Given the description of an element on the screen output the (x, y) to click on. 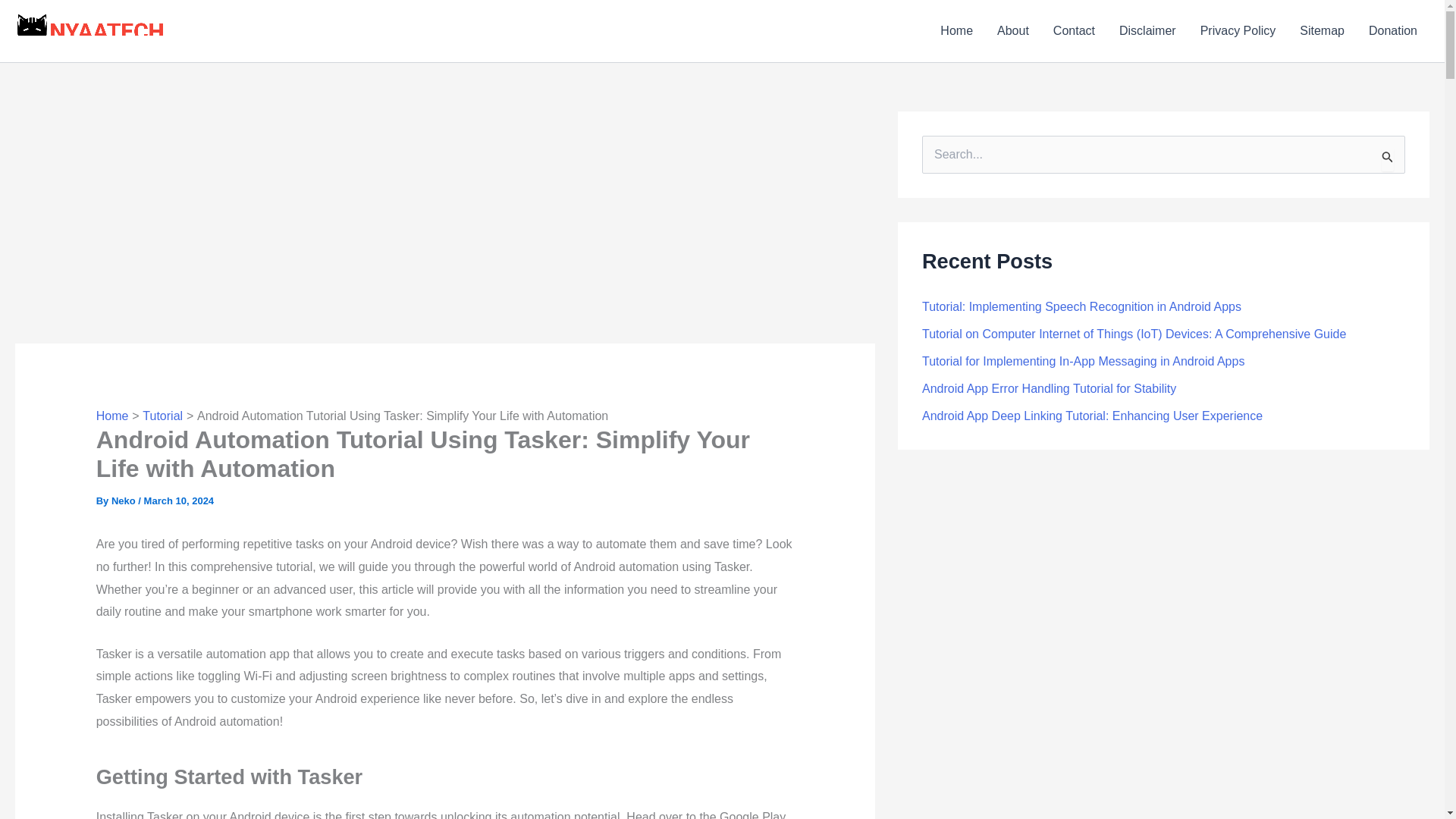
Privacy Policy (1238, 30)
Tutorial: Implementing Speech Recognition in Android Apps (1081, 306)
Donation (1392, 30)
About (1013, 30)
Neko (125, 500)
Contact (1073, 30)
Tutorial for Implementing In-App Messaging in Android Apps (1082, 360)
Disclaimer (1147, 30)
Tutorial (162, 415)
Home (112, 415)
View all posts by Neko (125, 500)
Home (956, 30)
Advertisement (444, 223)
Sitemap (1321, 30)
